Given the description of an element on the screen output the (x, y) to click on. 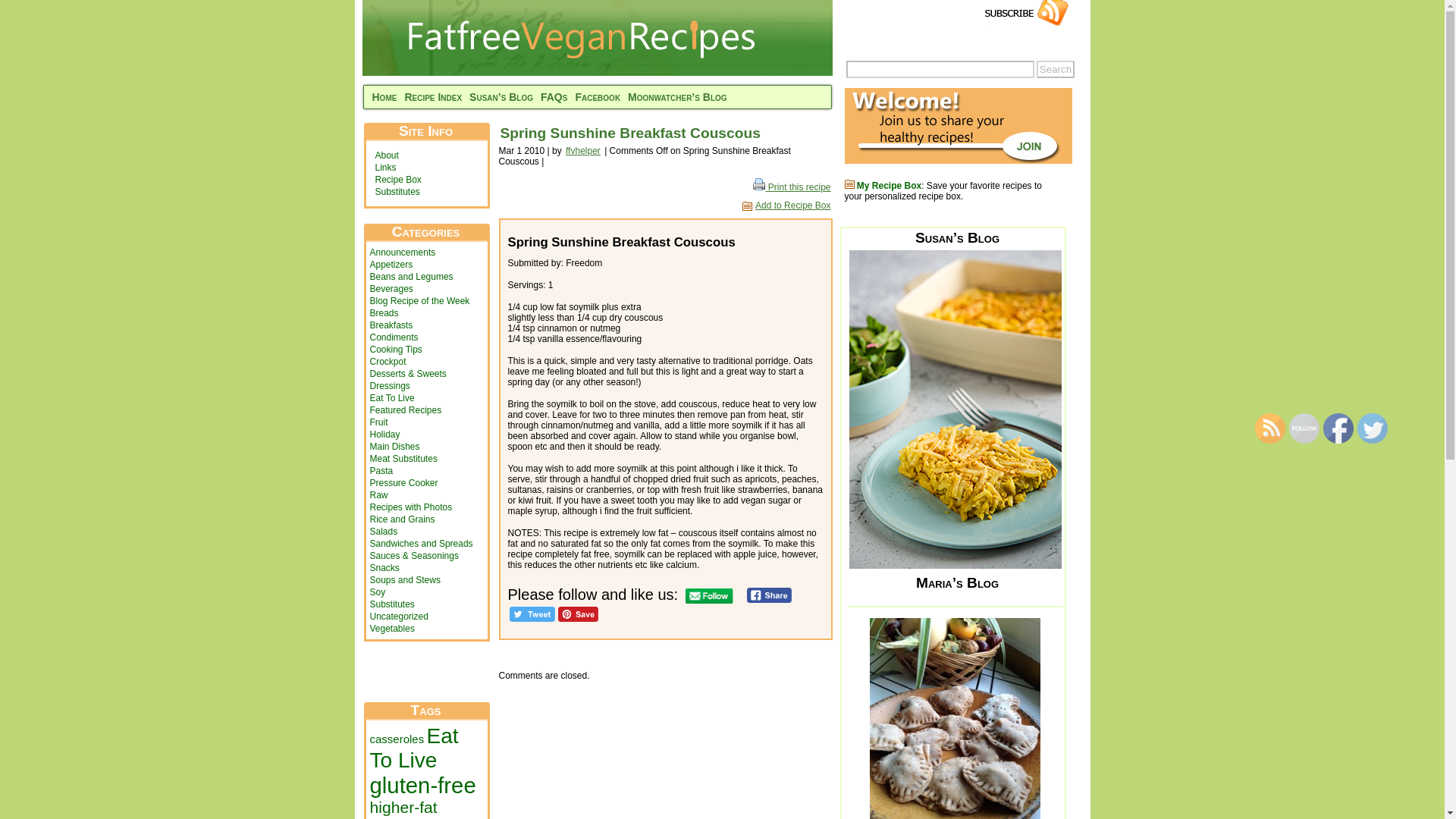
print this recipe (791, 187)
Raw (378, 494)
Fruit (378, 421)
Announcements (402, 252)
Appetizers (391, 264)
Featured Recipes (405, 409)
Soups and Stews (405, 579)
Salads (383, 531)
Recipe Index (432, 96)
Substitutes (396, 191)
